Given the description of an element on the screen output the (x, y) to click on. 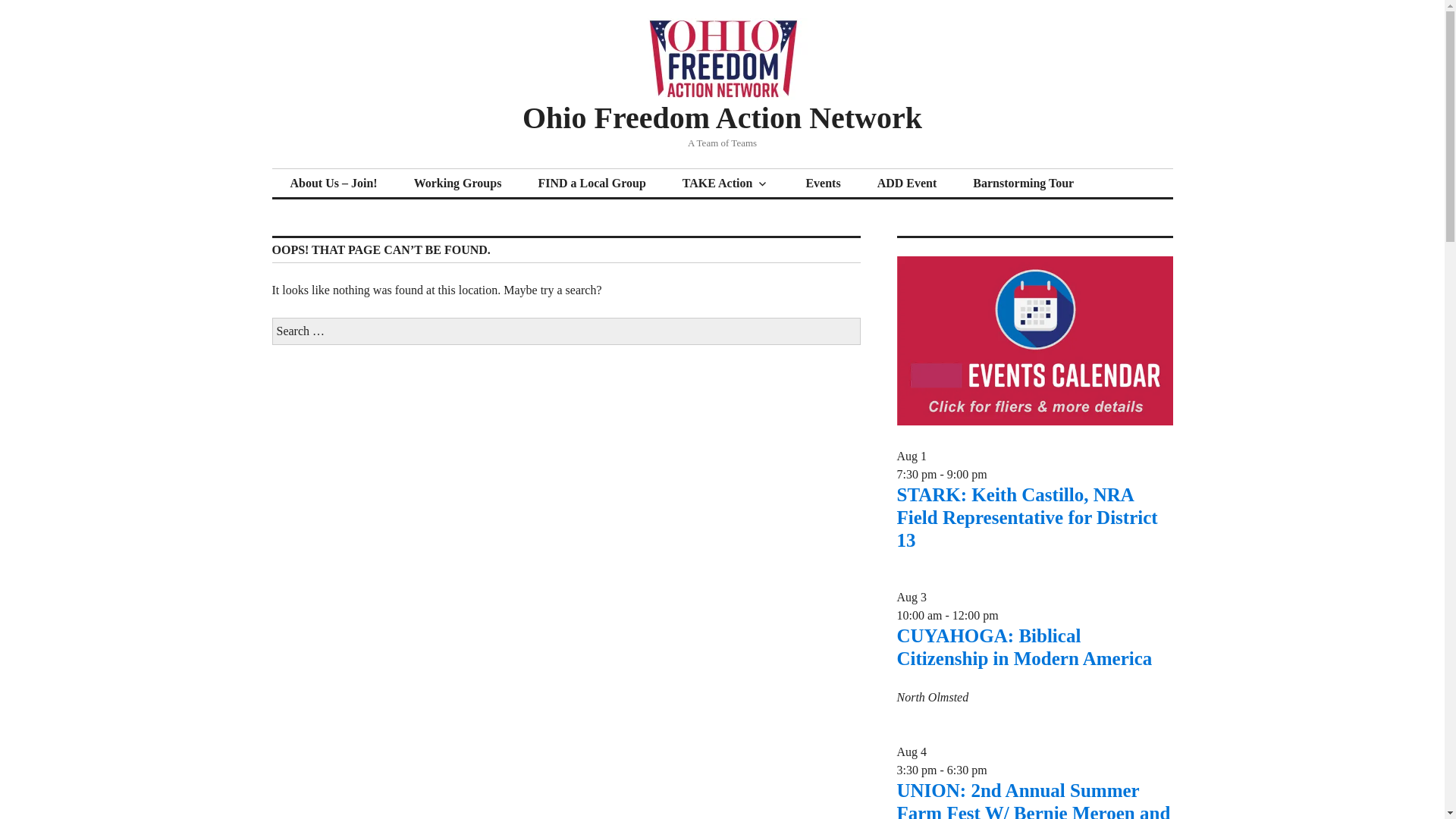
Working Groups (457, 183)
TAKE Action (725, 183)
CUYAHOGA: Biblical Citizenship in Modern America (1023, 647)
ADD Event (907, 183)
Search (8, 4)
CUYAHOGA: Biblical Citizenship in Modern America (1023, 647)
Events (823, 183)
Ohio Freedom Action Network (721, 117)
Barnstorming Tour (1023, 183)
FIND a Local Group (591, 183)
